Given the description of an element on the screen output the (x, y) to click on. 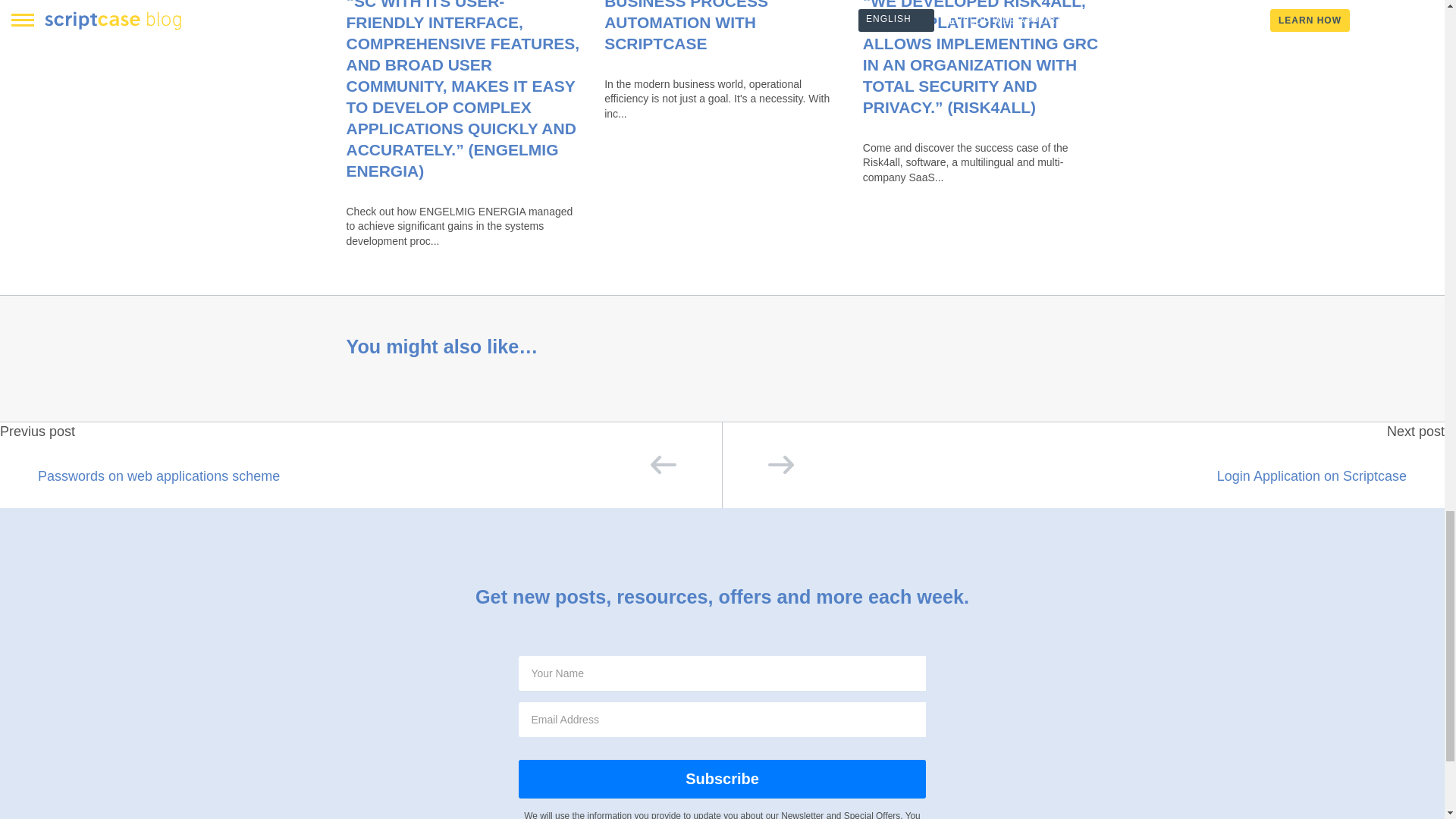
BUSINESS PROCESS AUTOMATION WITH SCRIPTCASE (686, 26)
Passwords on web applications scheme (361, 473)
Subscribe (721, 779)
Subscribe (721, 779)
